Given the description of an element on the screen output the (x, y) to click on. 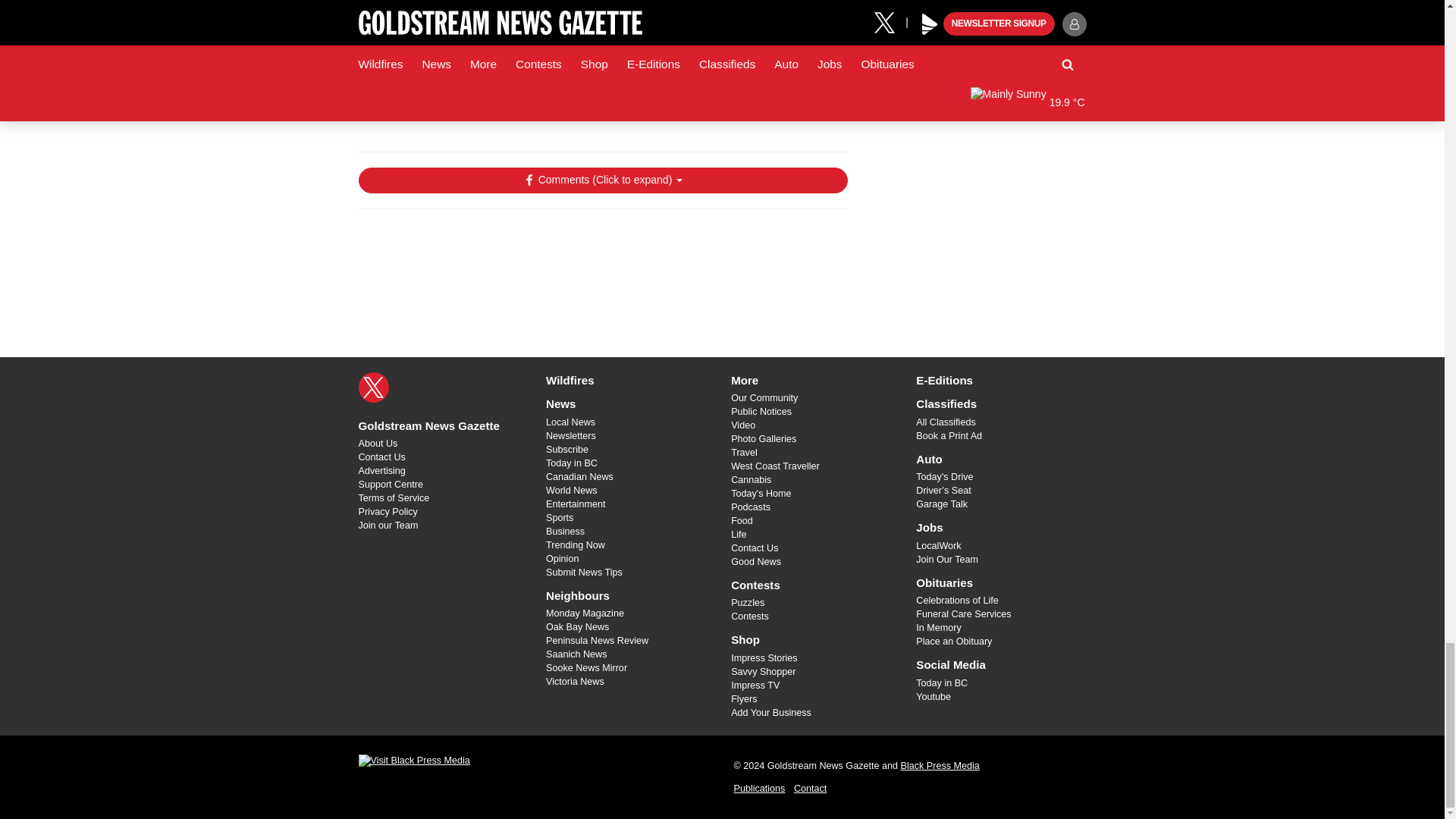
Show Comments (602, 180)
X (373, 387)
